Given the description of an element on the screen output the (x, y) to click on. 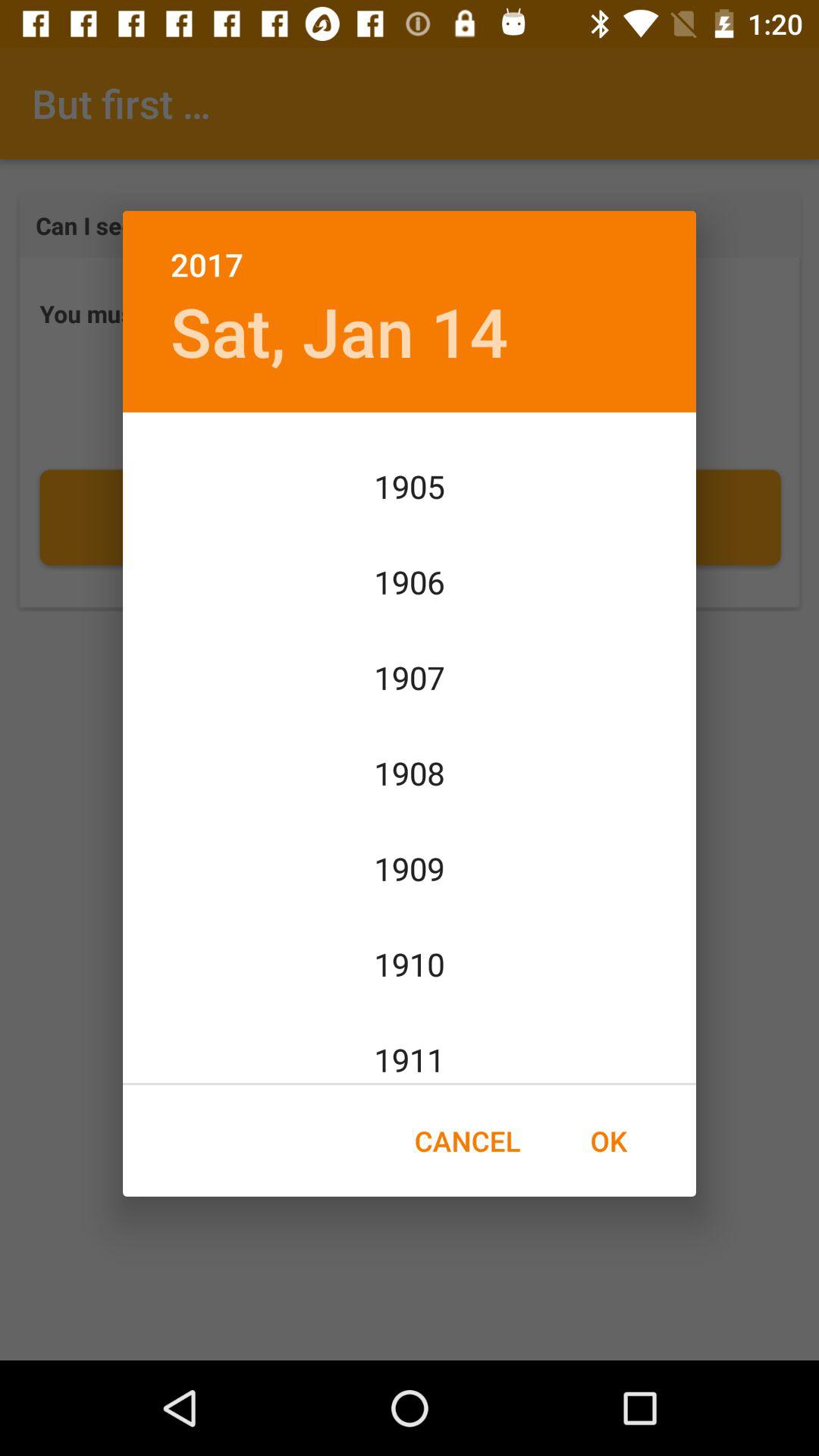
flip until the cancel (467, 1140)
